Given the description of an element on the screen output the (x, y) to click on. 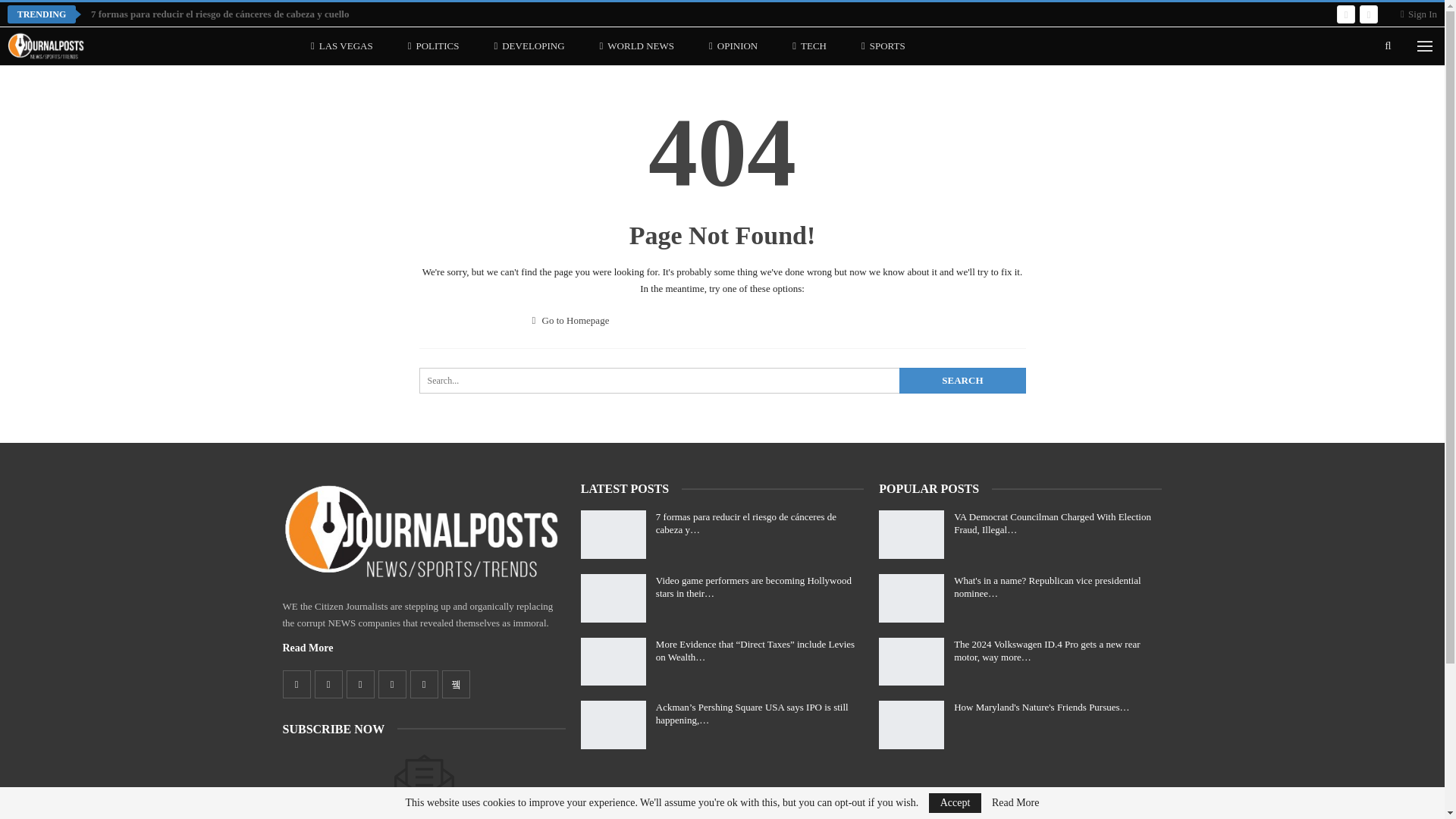
Go to Homepage (571, 319)
DEVELOPING (528, 46)
TECH (809, 46)
OPINION (732, 46)
LAS VEGAS (342, 46)
Search for: (722, 380)
Search (962, 380)
WORLD NEWS (637, 46)
POLITICS (433, 46)
Search (962, 380)
Search (962, 380)
SPORTS (883, 46)
